Given the description of an element on the screen output the (x, y) to click on. 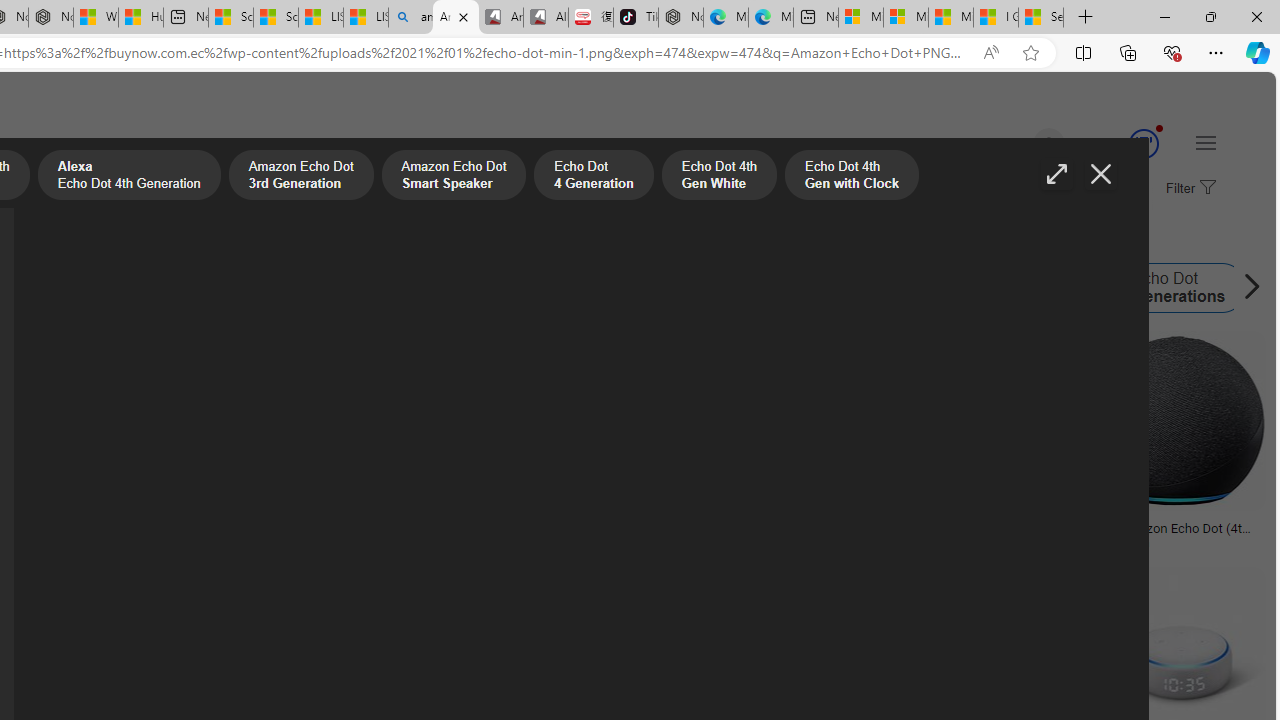
pixabay.com (732, 541)
pnghq.com (96, 542)
I Gained 20 Pounds of Muscle in 30 Days! | Watch (995, 17)
Echo Dot Generations (1162, 287)
Amazon Echo Dot 3 (891, 287)
